Given the description of an element on the screen output the (x, y) to click on. 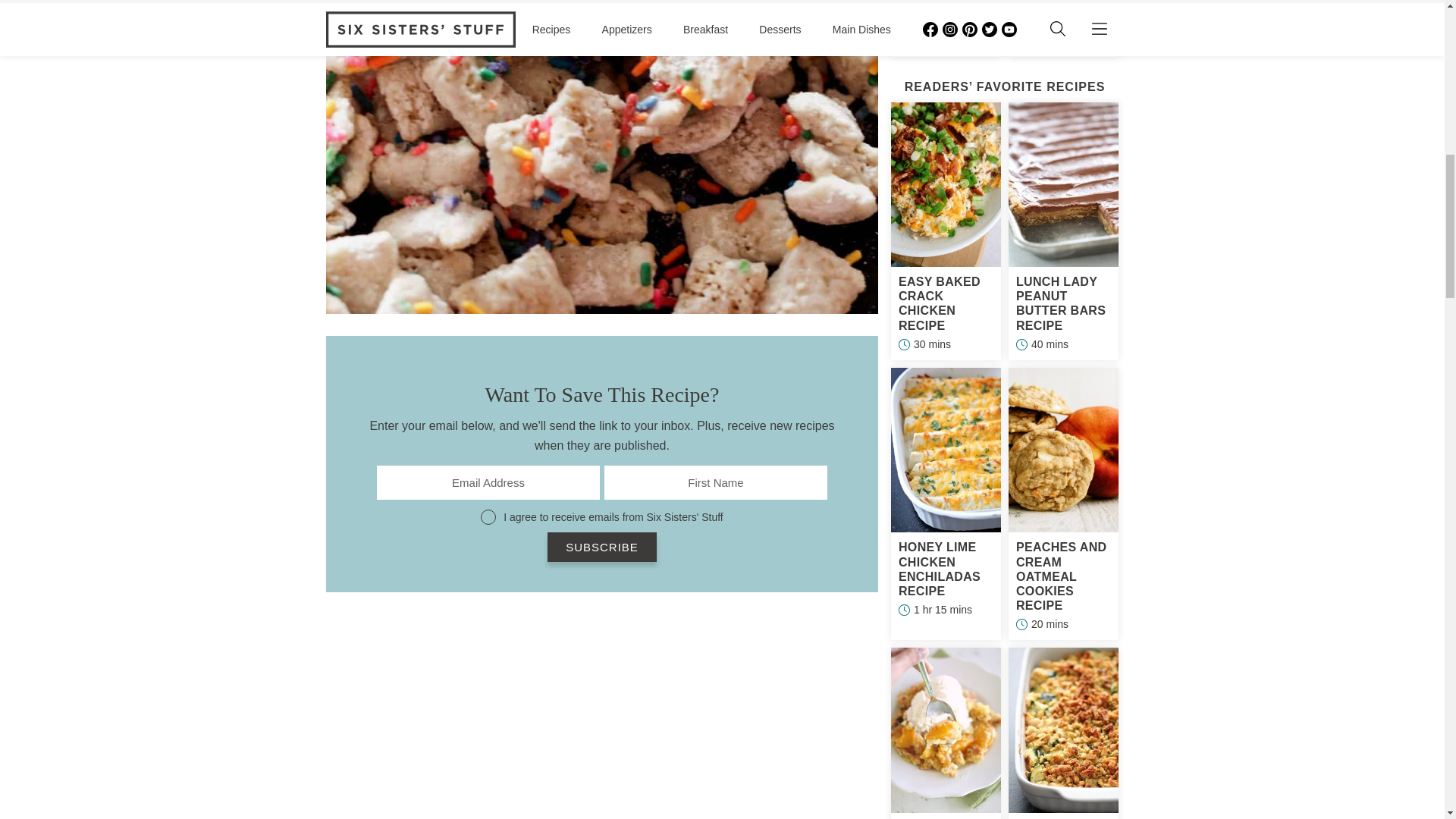
5017270 (488, 516)
EASY 4 NO BAKE DESSERTS - Make them in just a few minutes! (601, 713)
